Given the description of an element on the screen output the (x, y) to click on. 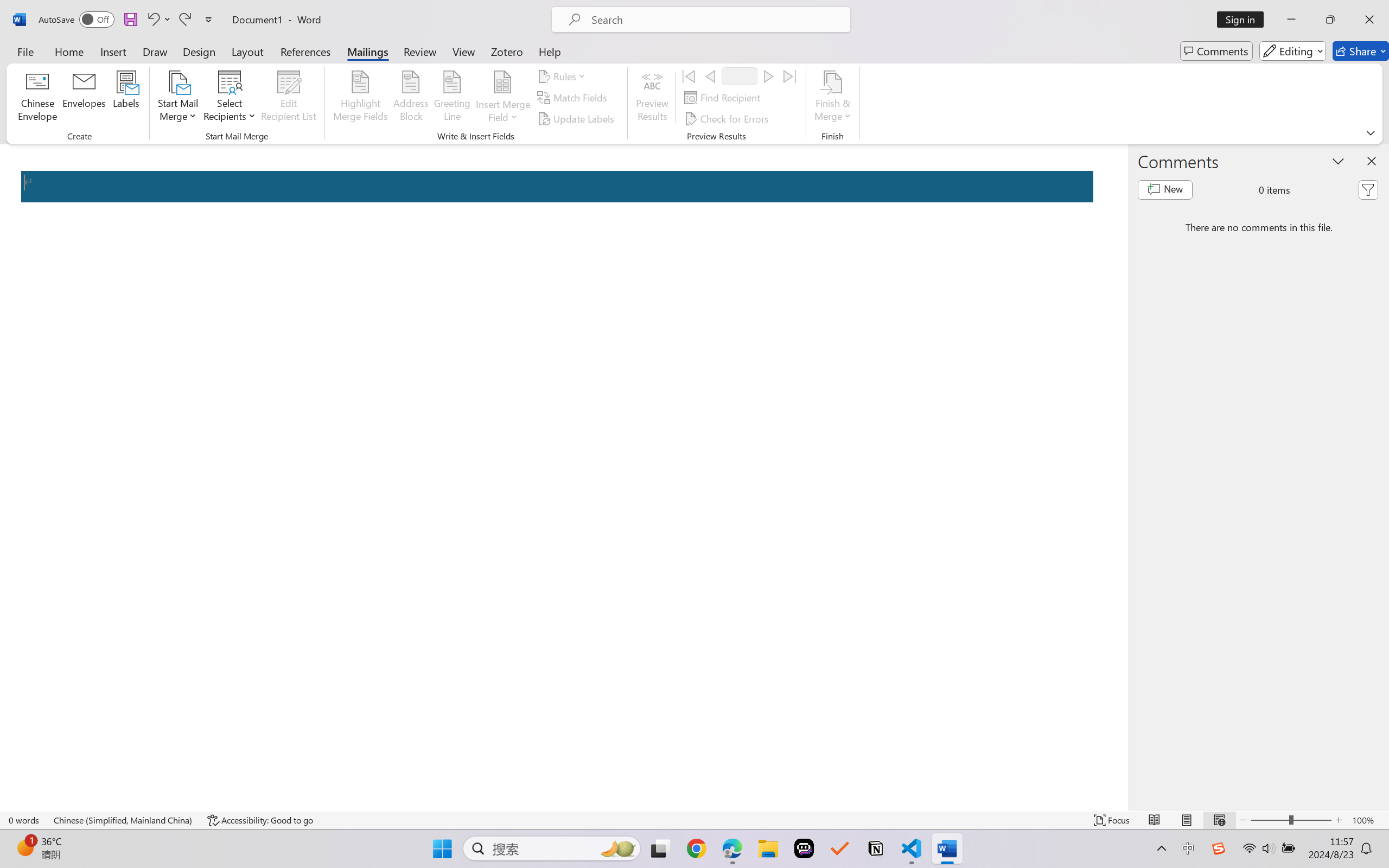
Rules (563, 75)
Redo Apply Quick Style (184, 19)
First (688, 75)
Editing (1292, 50)
Greeting Line... (451, 97)
Envelopes... (84, 97)
Language Chinese (Simplified, Mainland China) (123, 819)
Next (768, 75)
New comment (1165, 189)
